Given the description of an element on the screen output the (x, y) to click on. 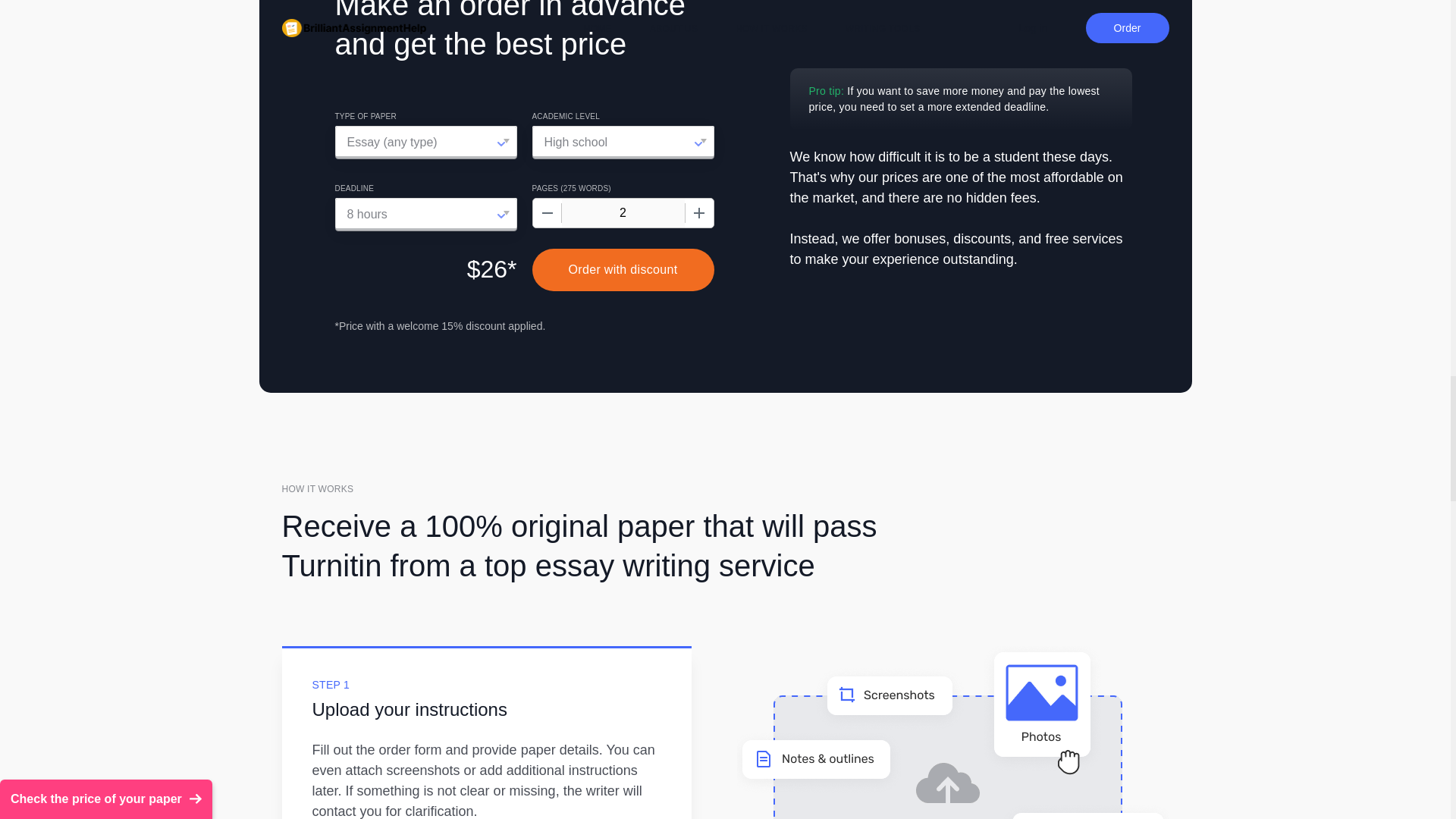
2 (622, 213)
Decrease (546, 213)
Order with discount (623, 269)
Increase (698, 213)
